Given the description of an element on the screen output the (x, y) to click on. 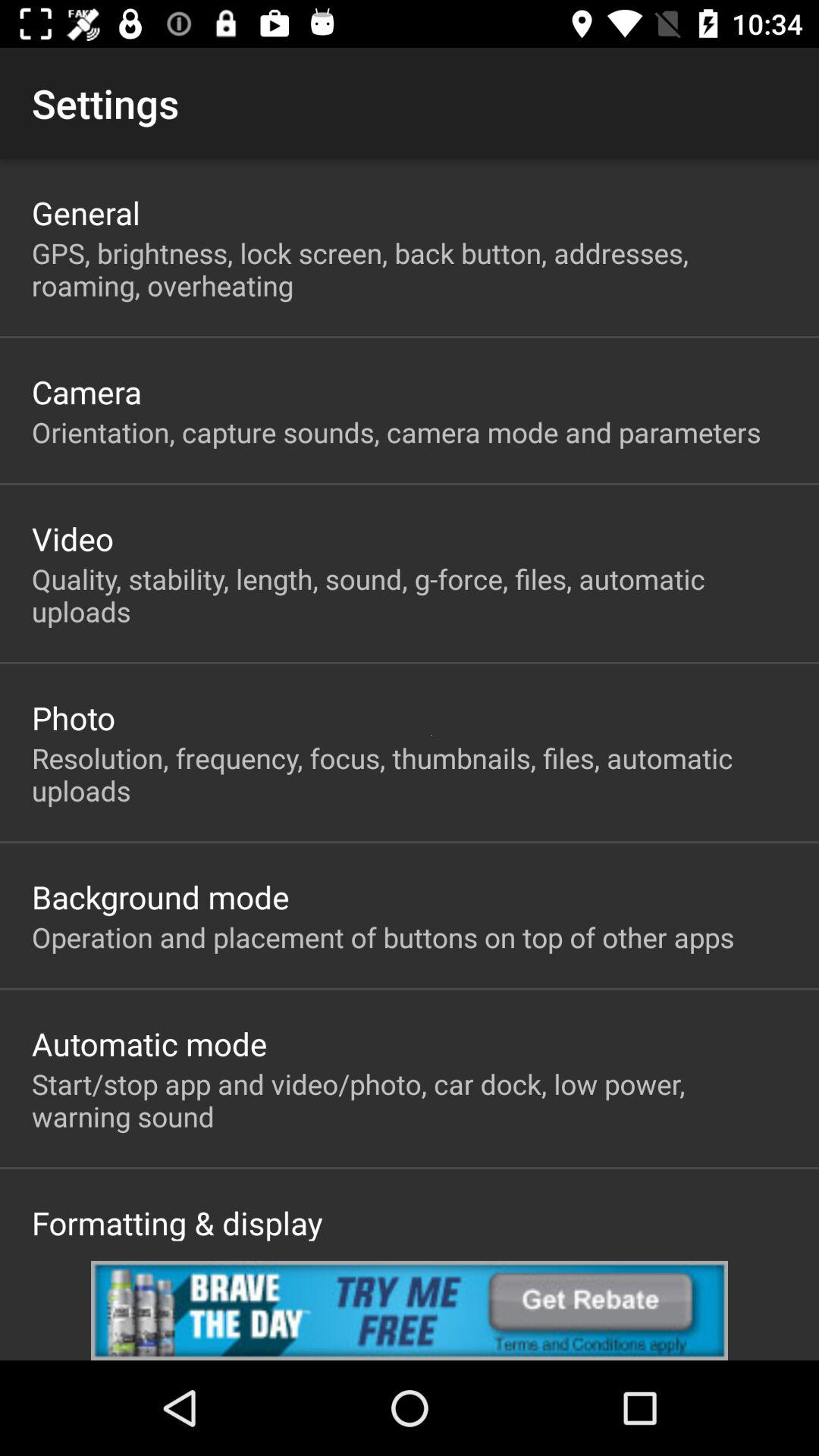
open advertisement (409, 1310)
